Given the description of an element on the screen output the (x, y) to click on. 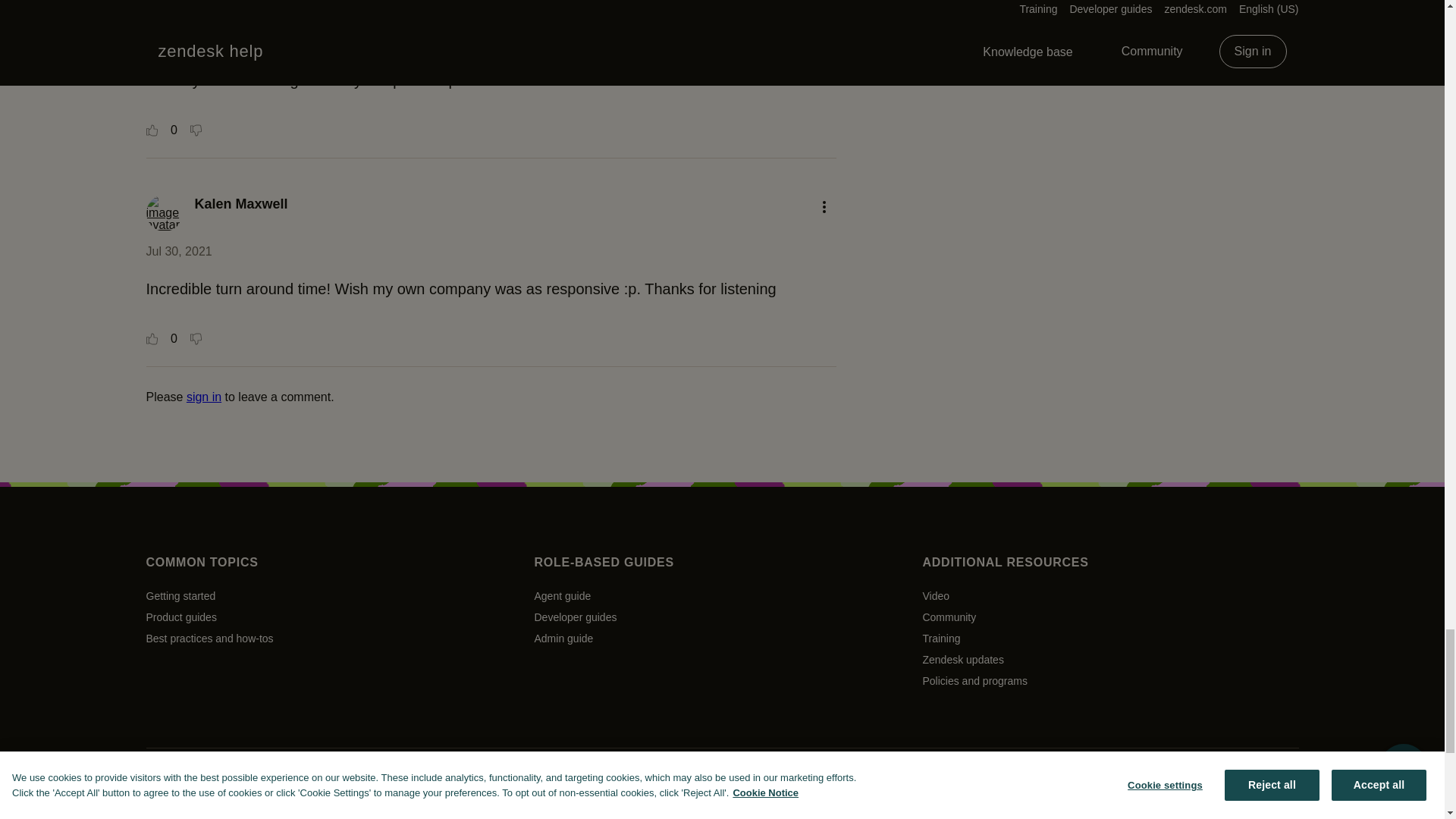
Jul 30, 2021 (178, 250)
Jul 30, 2021 (178, 42)
